Given the description of an element on the screen output the (x, y) to click on. 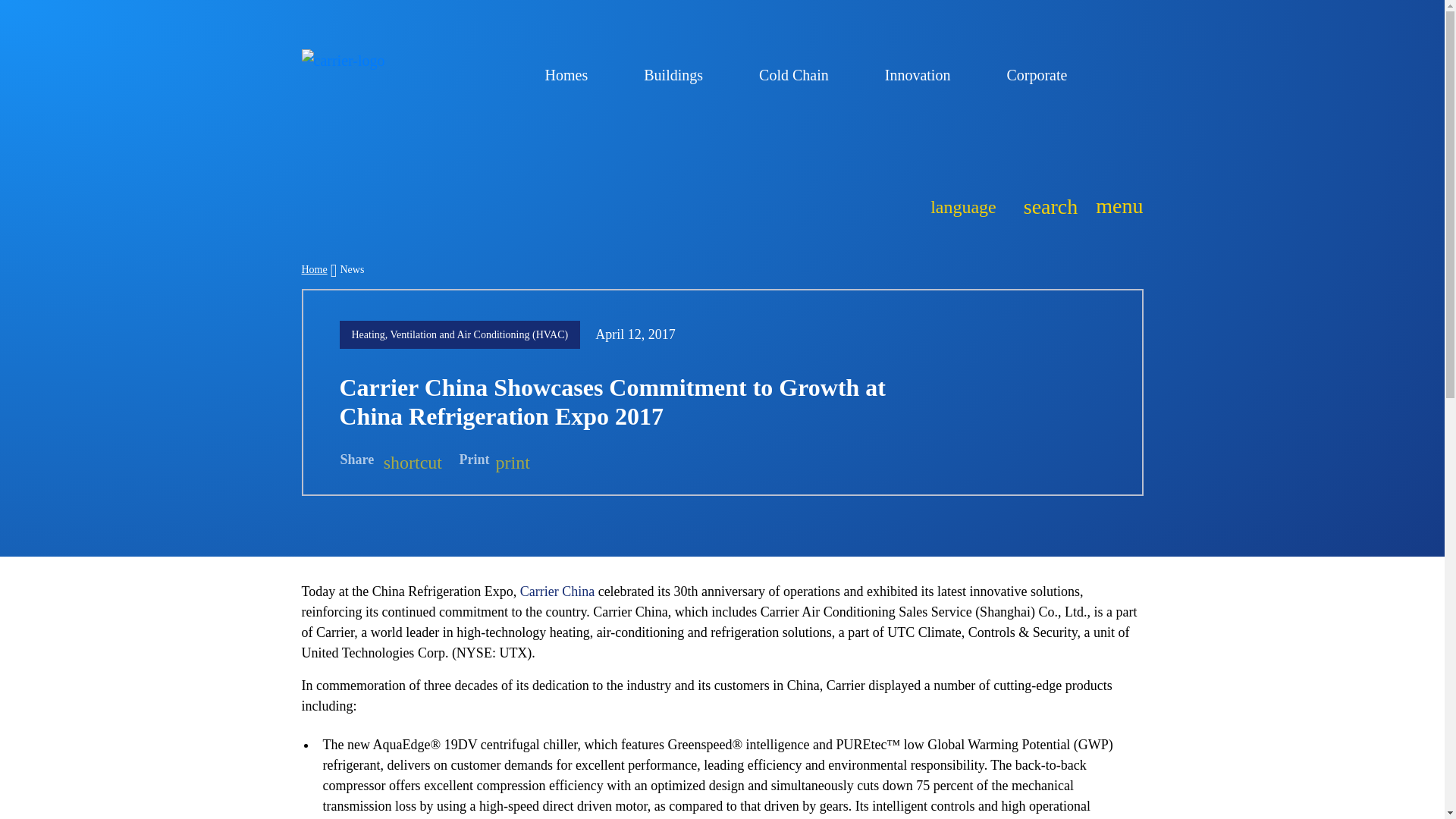
Home (314, 268)
language (962, 205)
Innovation (924, 74)
Carrier China (556, 590)
Buildings (680, 74)
Corporate (1043, 74)
Homes (573, 74)
search (1046, 205)
Printprint (494, 460)
Cold Chain (800, 74)
